Given the description of an element on the screen output the (x, y) to click on. 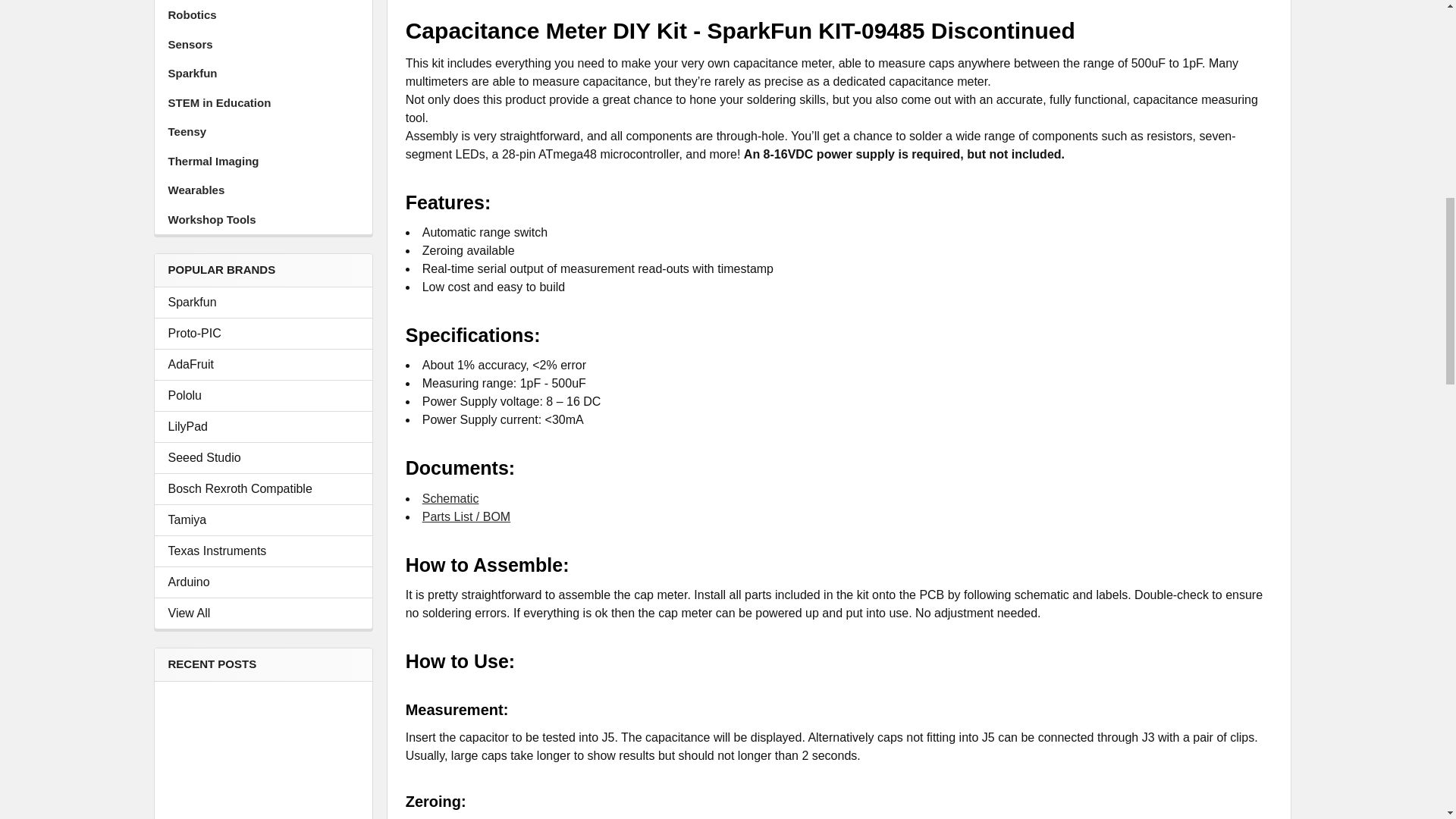
Seeed Studio (263, 457)
LilyPad (263, 426)
Proto-PIC (263, 333)
Texas Instruments (263, 551)
Pololu (263, 395)
Bosch Rexroth Compatible (263, 488)
AdaFruit (263, 364)
Sparkfun (263, 302)
Arduino (263, 582)
Tamiya (263, 520)
